Given the description of an element on the screen output the (x, y) to click on. 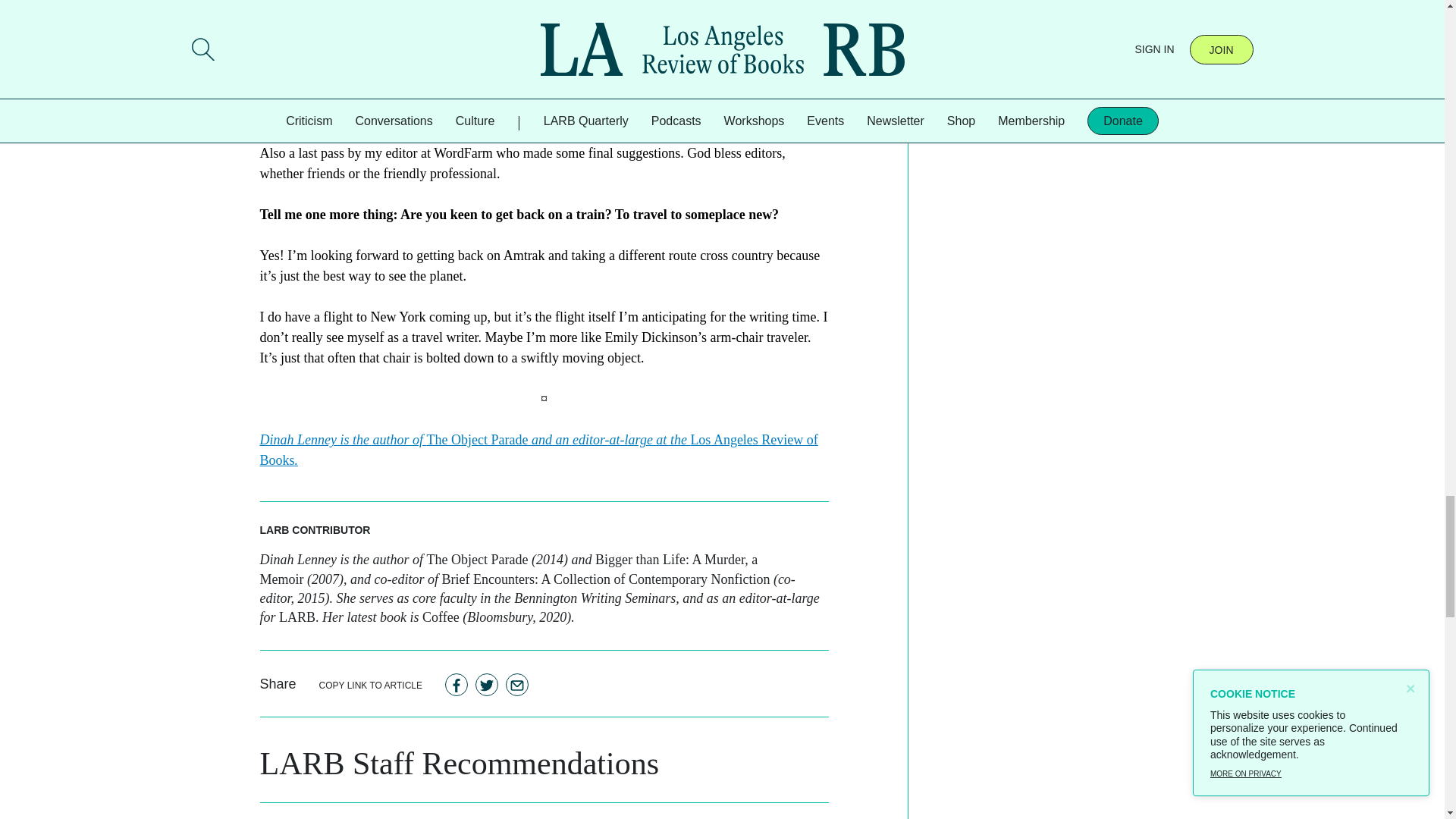
The Object Parade  (478, 439)
COPY LINK TO ARTICLE (370, 684)
Los Angeles Review of Books (537, 449)
Share on twitter (486, 684)
and an editor-at-large at the  (610, 439)
Share on facebook (456, 684)
Dinah Lenney is the author of  (342, 439)
